Given the description of an element on the screen output the (x, y) to click on. 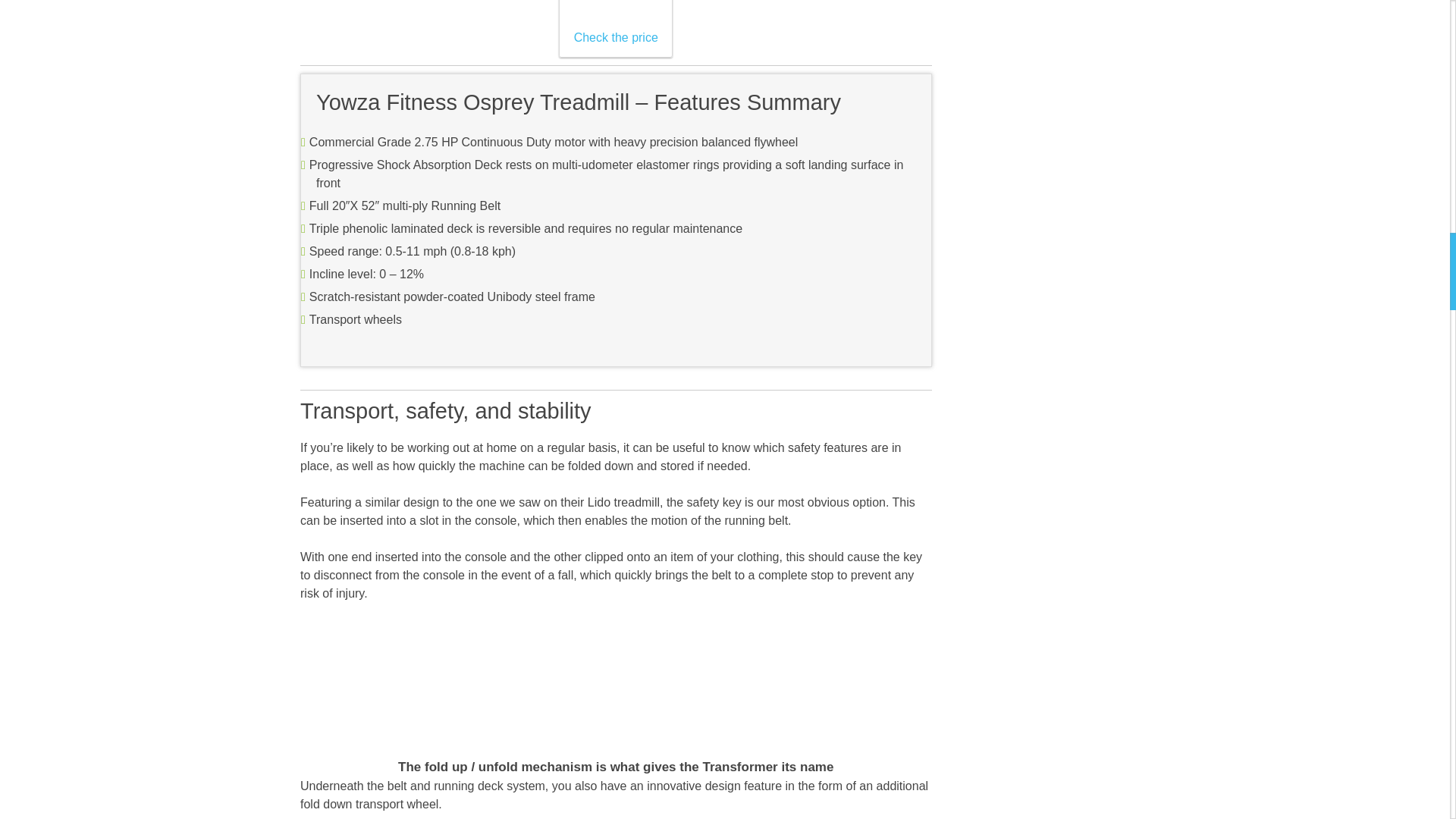
Check the price (615, 26)
